Given the description of an element on the screen output the (x, y) to click on. 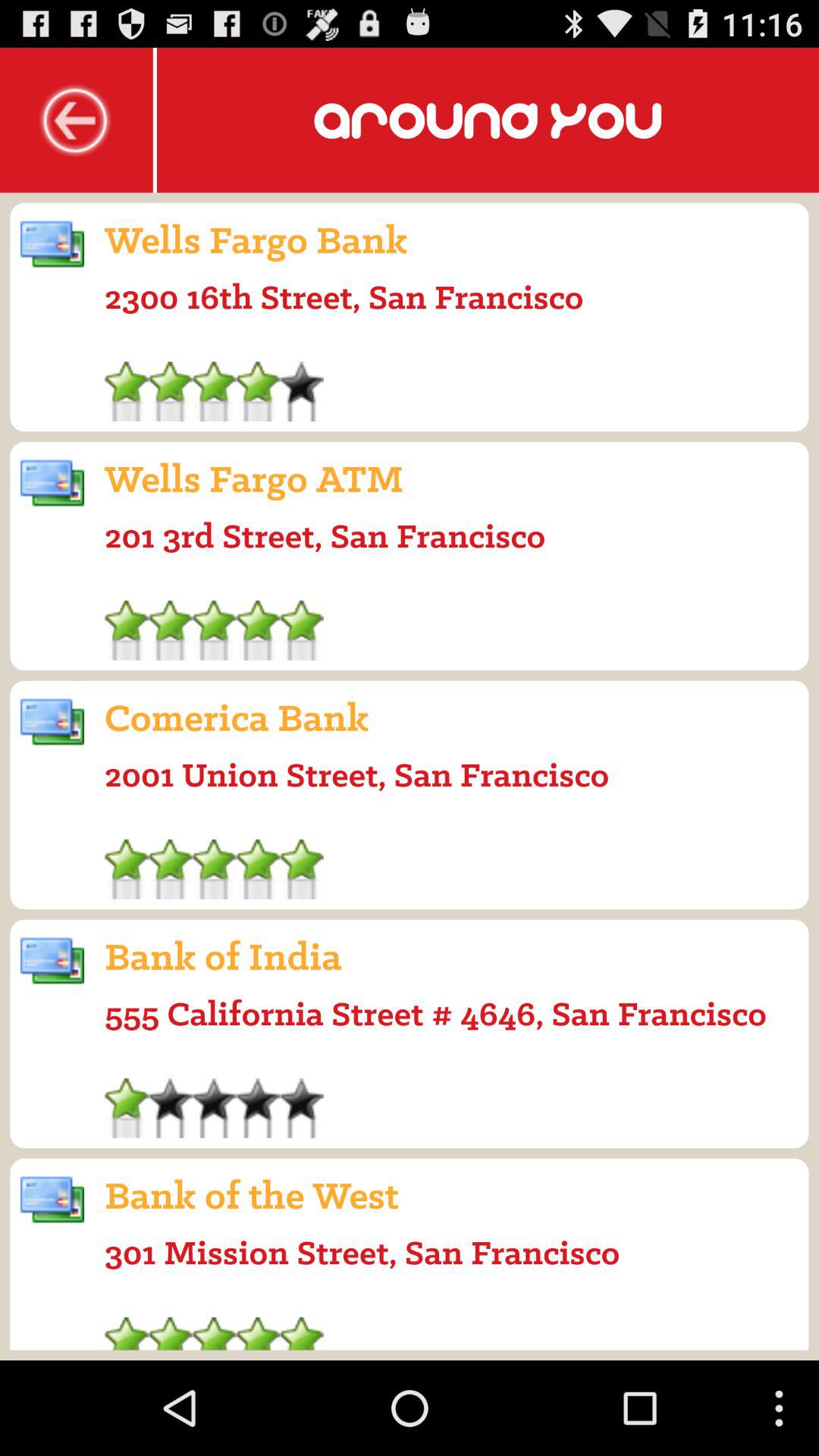
open the app below the wells fargo bank (343, 296)
